Given the description of an element on the screen output the (x, y) to click on. 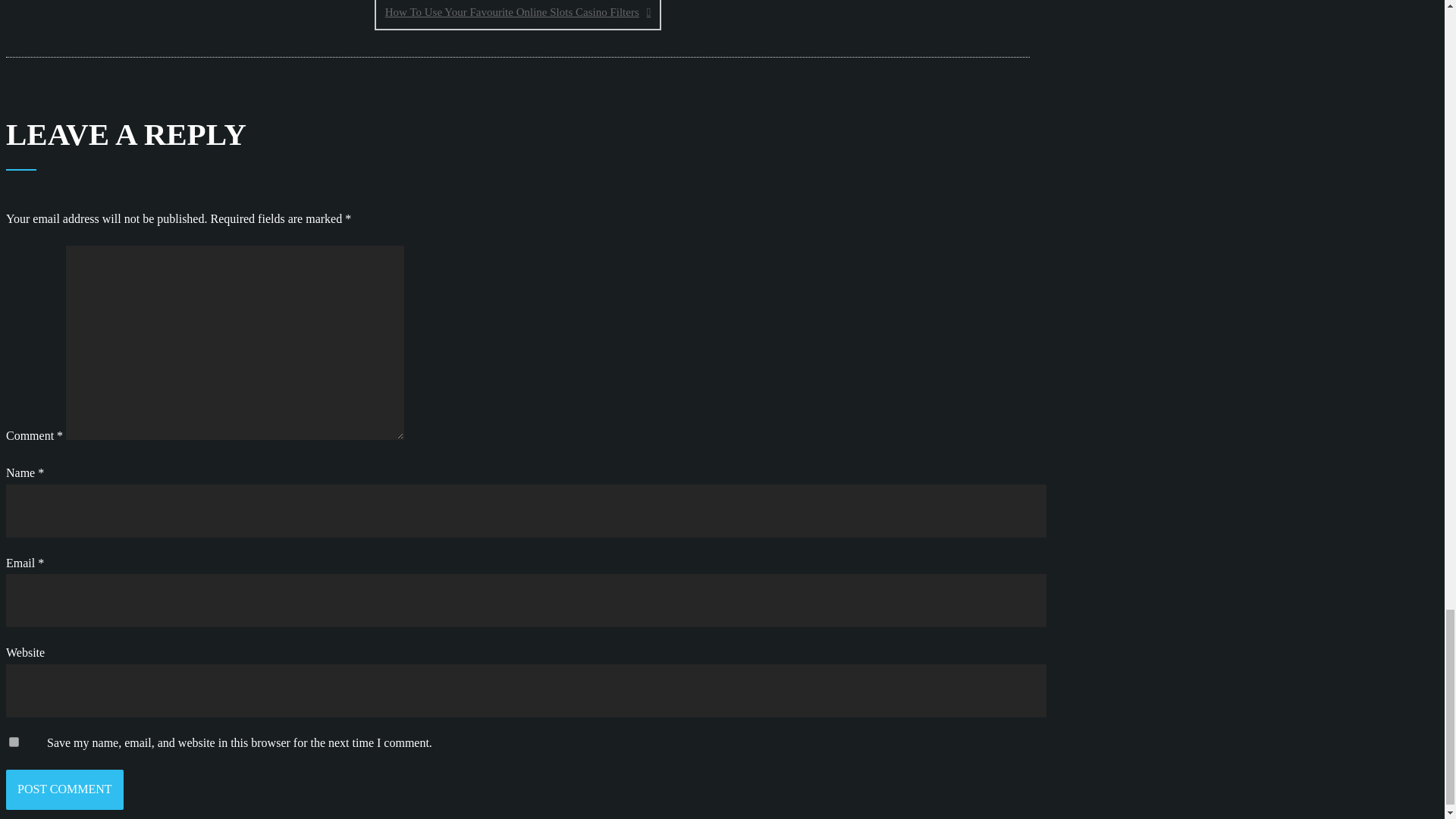
Post Comment (64, 789)
yes (13, 741)
How To Use Your Favourite Online Slots Casino Filters (517, 15)
Post Comment (64, 789)
